Given the description of an element on the screen output the (x, y) to click on. 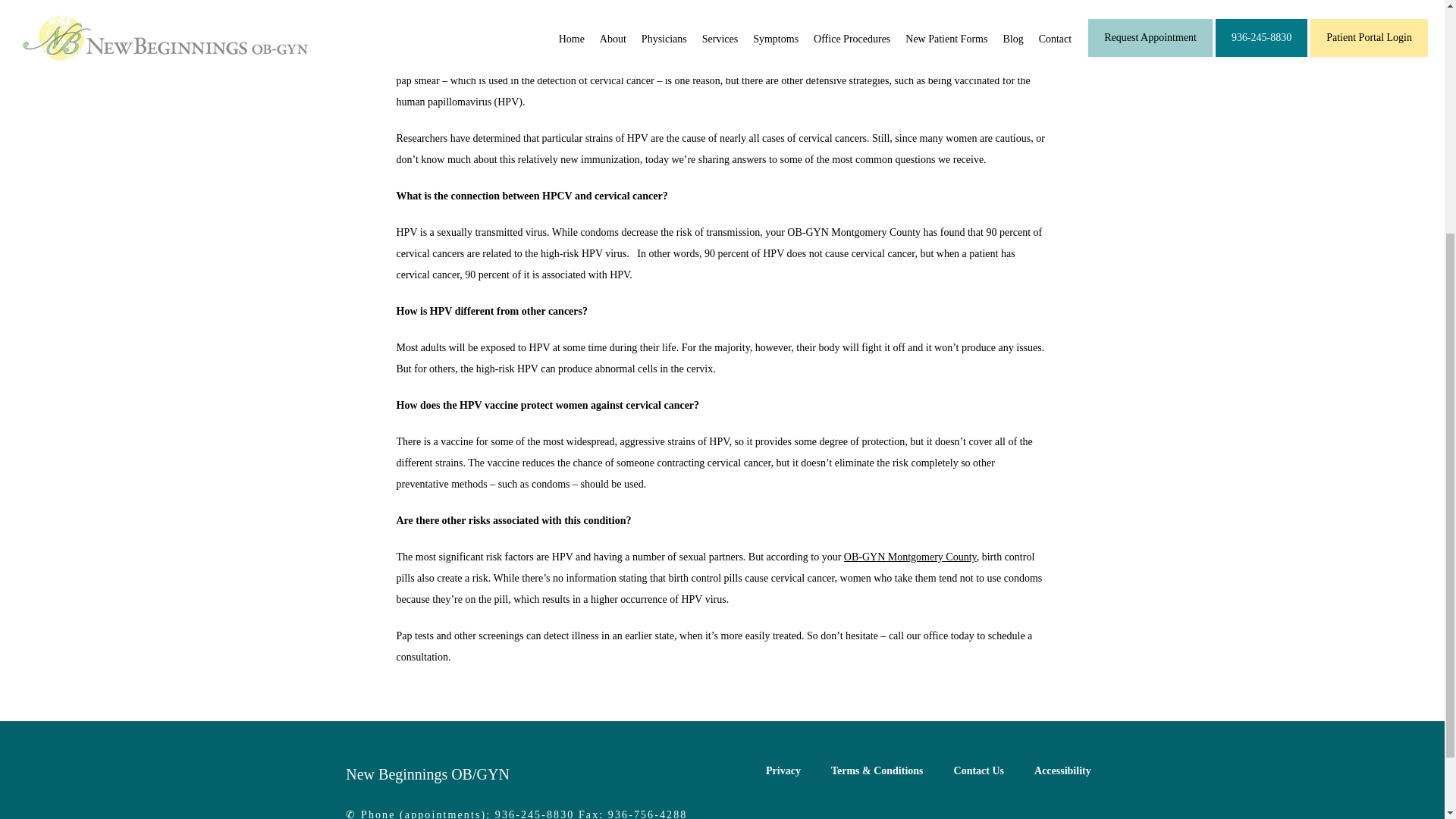
Contact Us (978, 770)
OB-GYN Montgomery County (910, 556)
Privacy (782, 770)
OB-GYN Montgomery County (879, 59)
Accessibility (1061, 770)
